Given the description of an element on the screen output the (x, y) to click on. 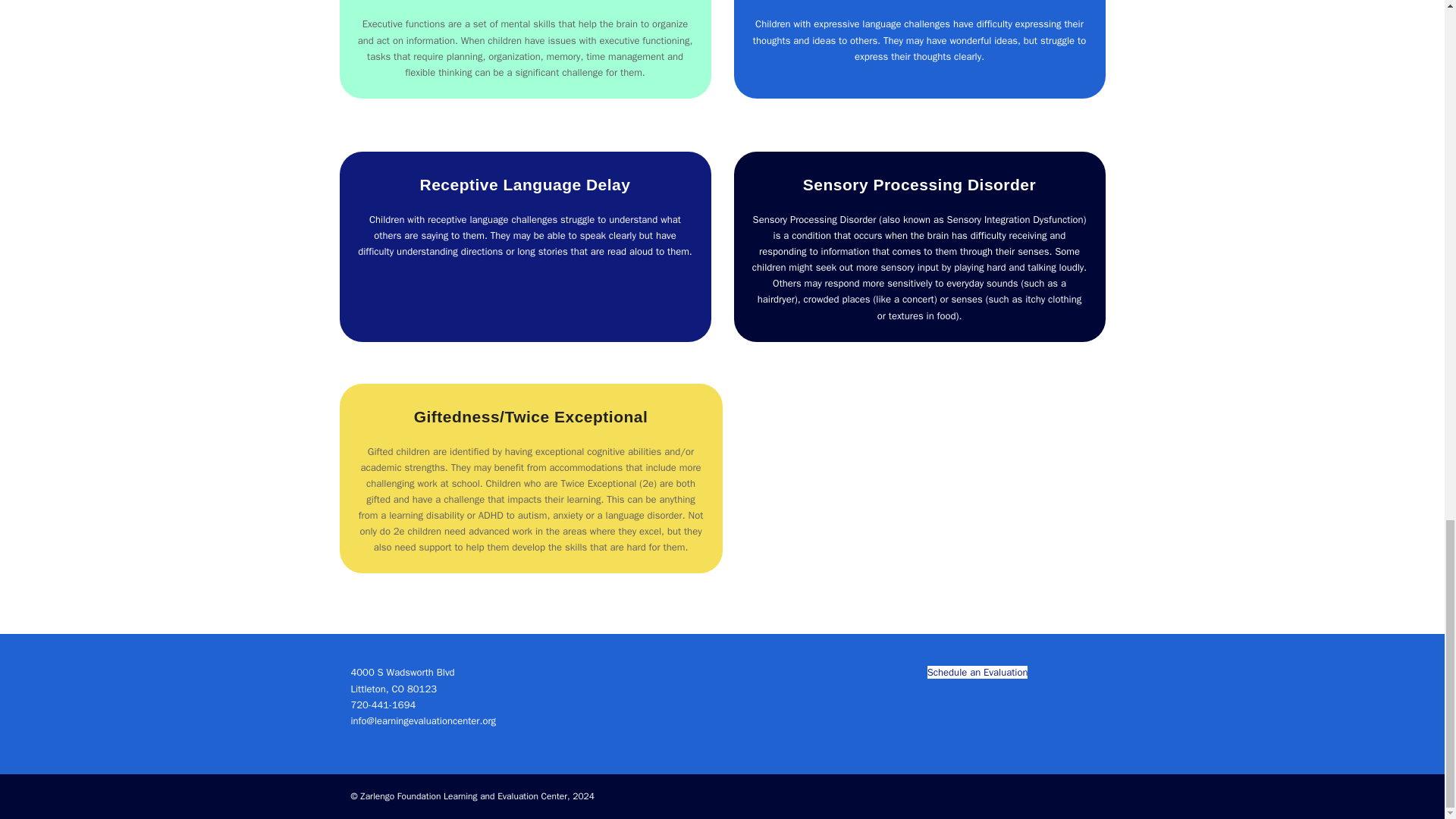
720-441-1694 (382, 704)
